Given the description of an element on the screen output the (x, y) to click on. 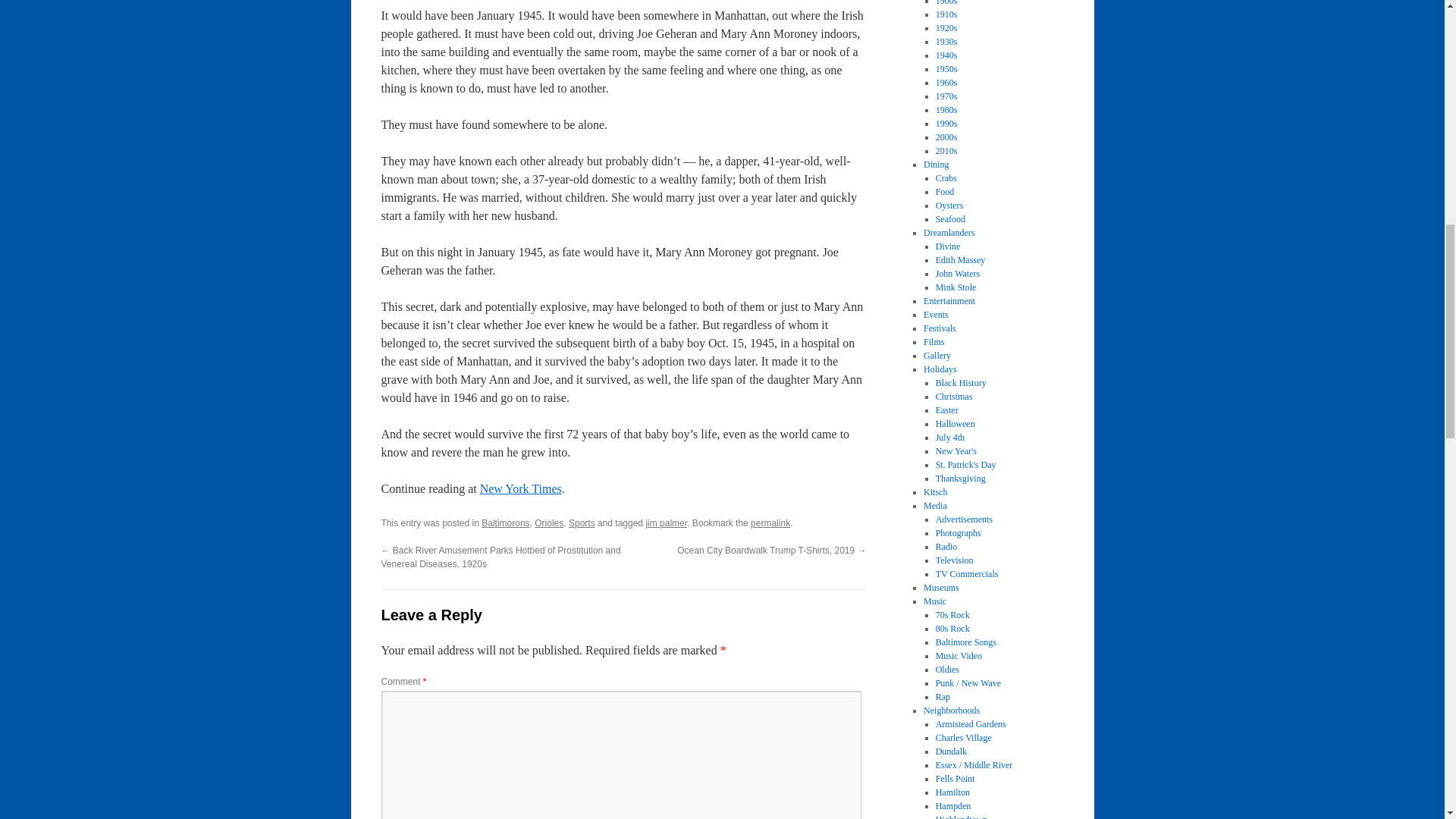
permalink (770, 522)
New York Times (521, 488)
Sports (582, 522)
Orioles (548, 522)
jim palmer (666, 522)
Baltimorons (505, 522)
